Given the description of an element on the screen output the (x, y) to click on. 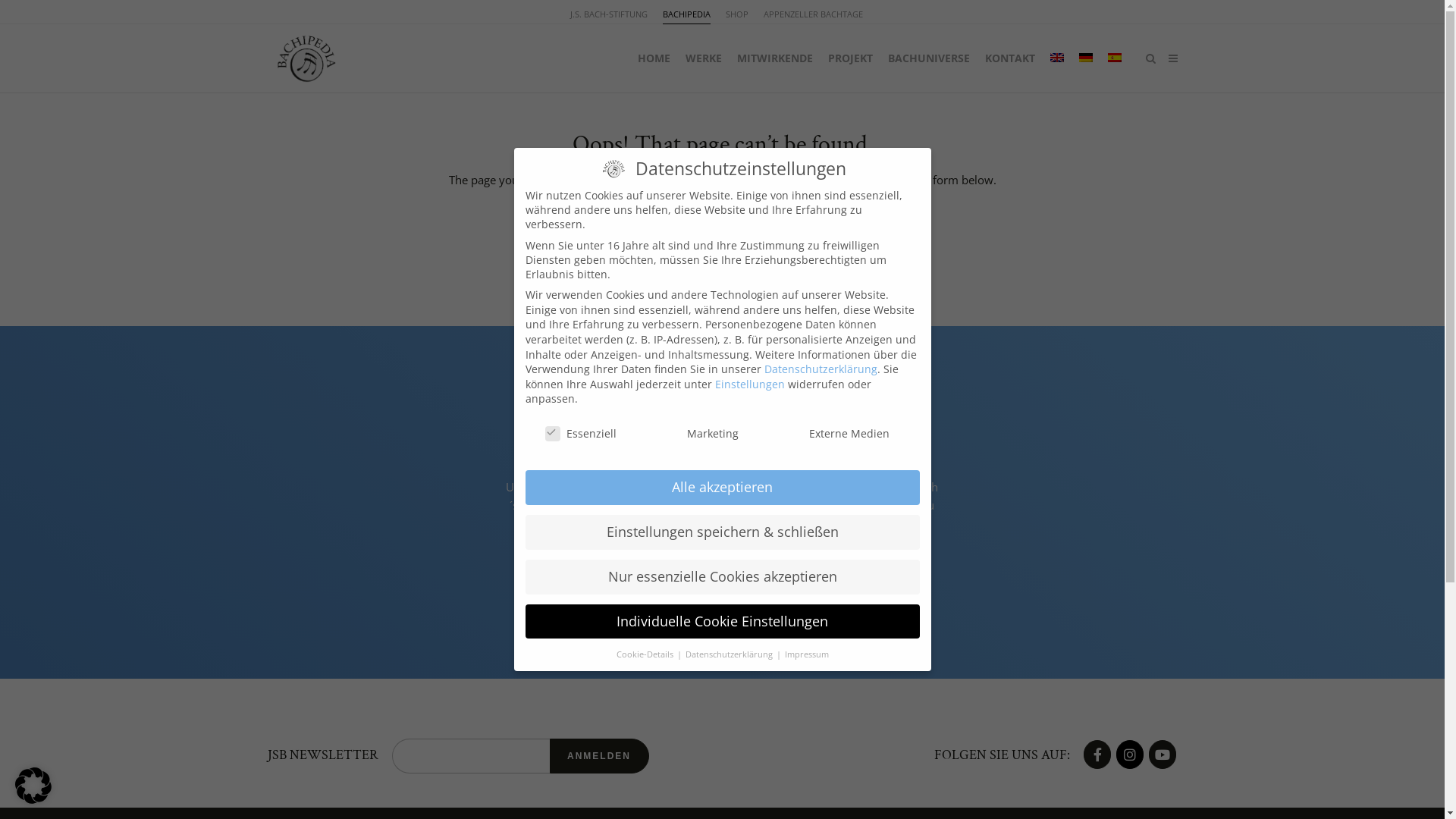
Cookie-Details Element type: text (644, 654)
Einstellungen Element type: text (749, 383)
Alle akzeptieren Element type: text (721, 487)
MITWIRKENDE Element type: text (774, 58)
ANMELDEN Element type: text (598, 755)
BACHUNIVERSE Element type: text (927, 58)
Individuelle Cookie Einstellungen Element type: text (721, 621)
Bachipedia.org on Youtube Element type: hover (1162, 754)
PROJEKT Element type: text (850, 58)
Nur essenzielle Cookies akzeptieren Element type: text (721, 576)
BACHIPEDIA Element type: text (686, 13)
Impressum Element type: text (806, 654)
Bachipedia.org on Instagram Element type: hover (1129, 754)
SHOP Element type: text (736, 13)
WERKE Element type: text (703, 58)
ERFAHREN SIE MEHR Element type: text (722, 585)
J.S. BACH-STIFTUNG Element type: text (608, 13)
APPENZELLER BACHTAGE Element type: text (812, 13)
KONTAKT Element type: text (1008, 58)
Bachipedia.org on Facebook Element type: hover (1096, 754)
HOME Element type: text (653, 58)
